Given the description of an element on the screen output the (x, y) to click on. 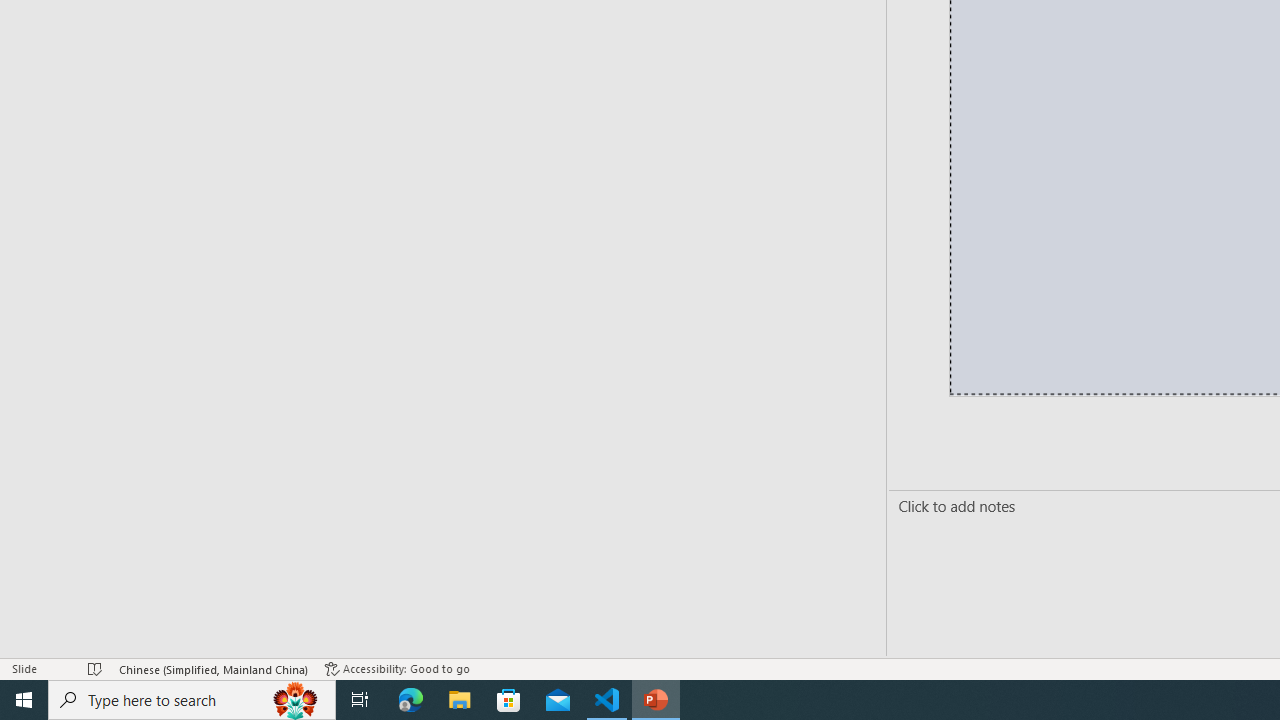
Accessibility Checker Accessibility: Good to go (397, 668)
